Given the description of an element on the screen output the (x, y) to click on. 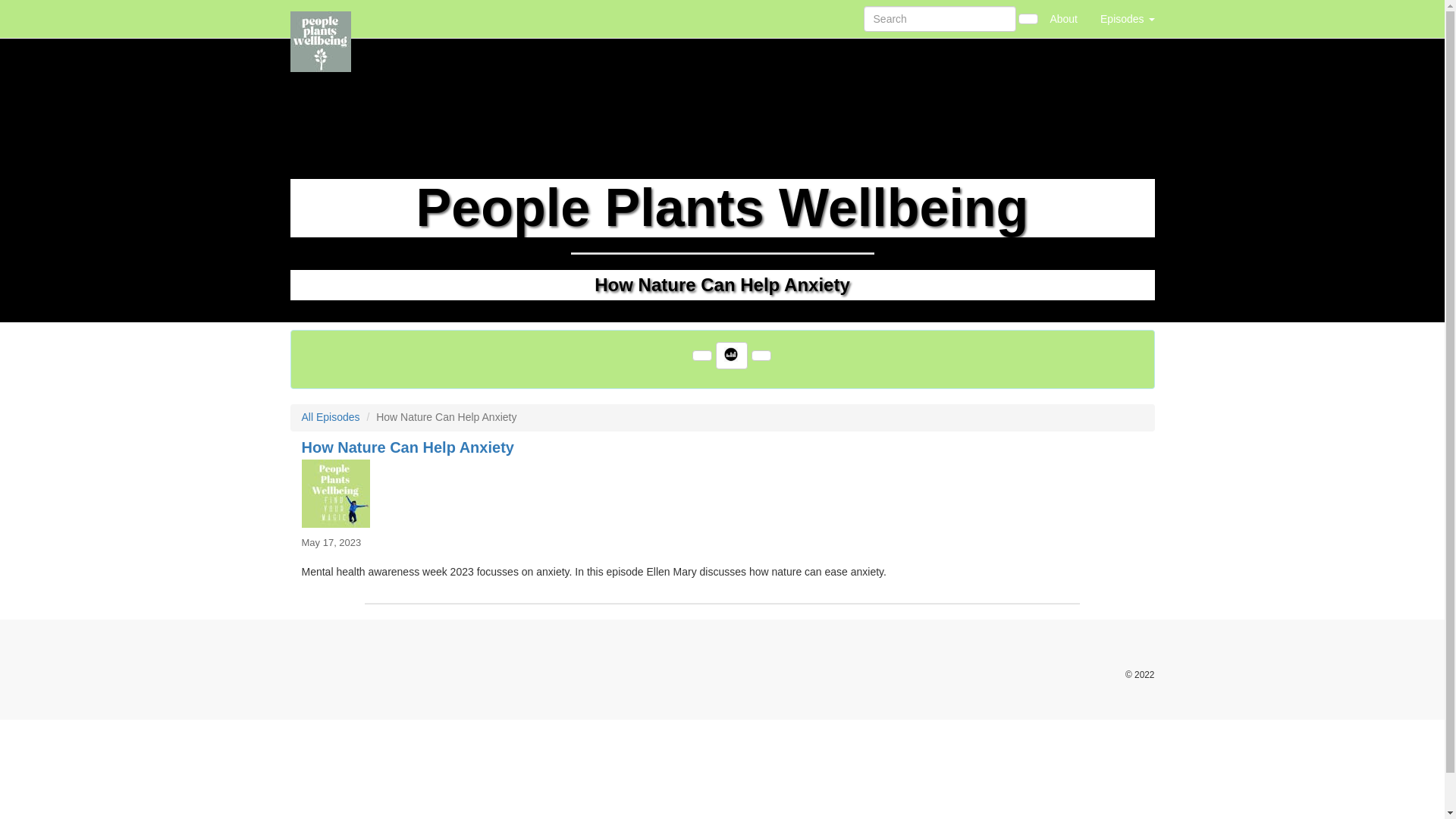
How Nature Can Help Anxiety (721, 493)
Episodes (1127, 18)
All Episodes (330, 417)
About (1063, 18)
Home Page (320, 18)
How Nature Can Help Anxiety (407, 446)
